Given the description of an element on the screen output the (x, y) to click on. 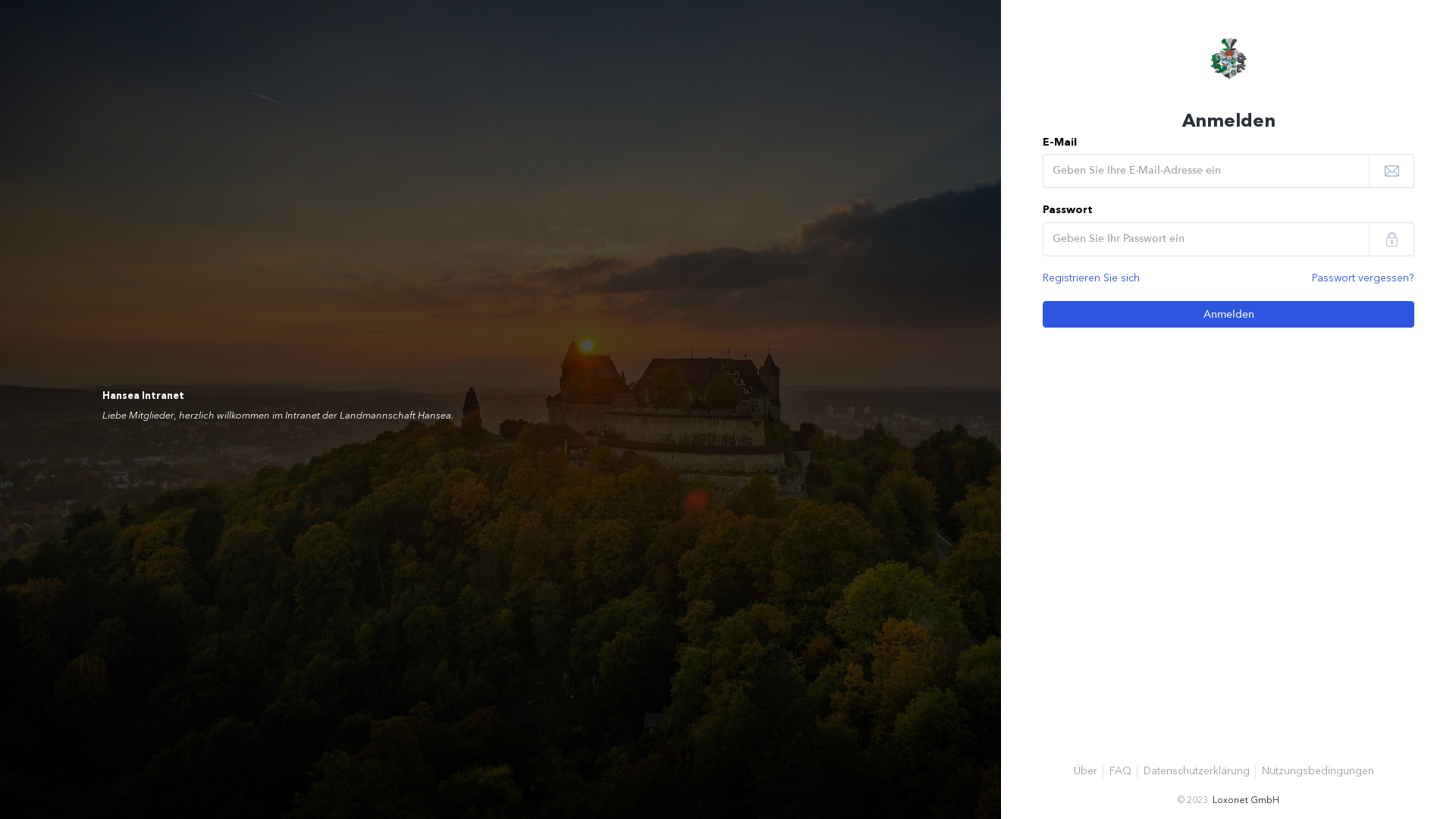
Nutzungsbedingungen Element type: text (1317, 771)
FAQ Element type: text (1120, 771)
Anmelden Element type: text (1228, 314)
Loxonet GmbH Element type: text (1245, 800)
Passwort vergessen? Element type: text (1362, 278)
Registrieren Sie sich Element type: text (1090, 278)
